Given the description of an element on the screen output the (x, y) to click on. 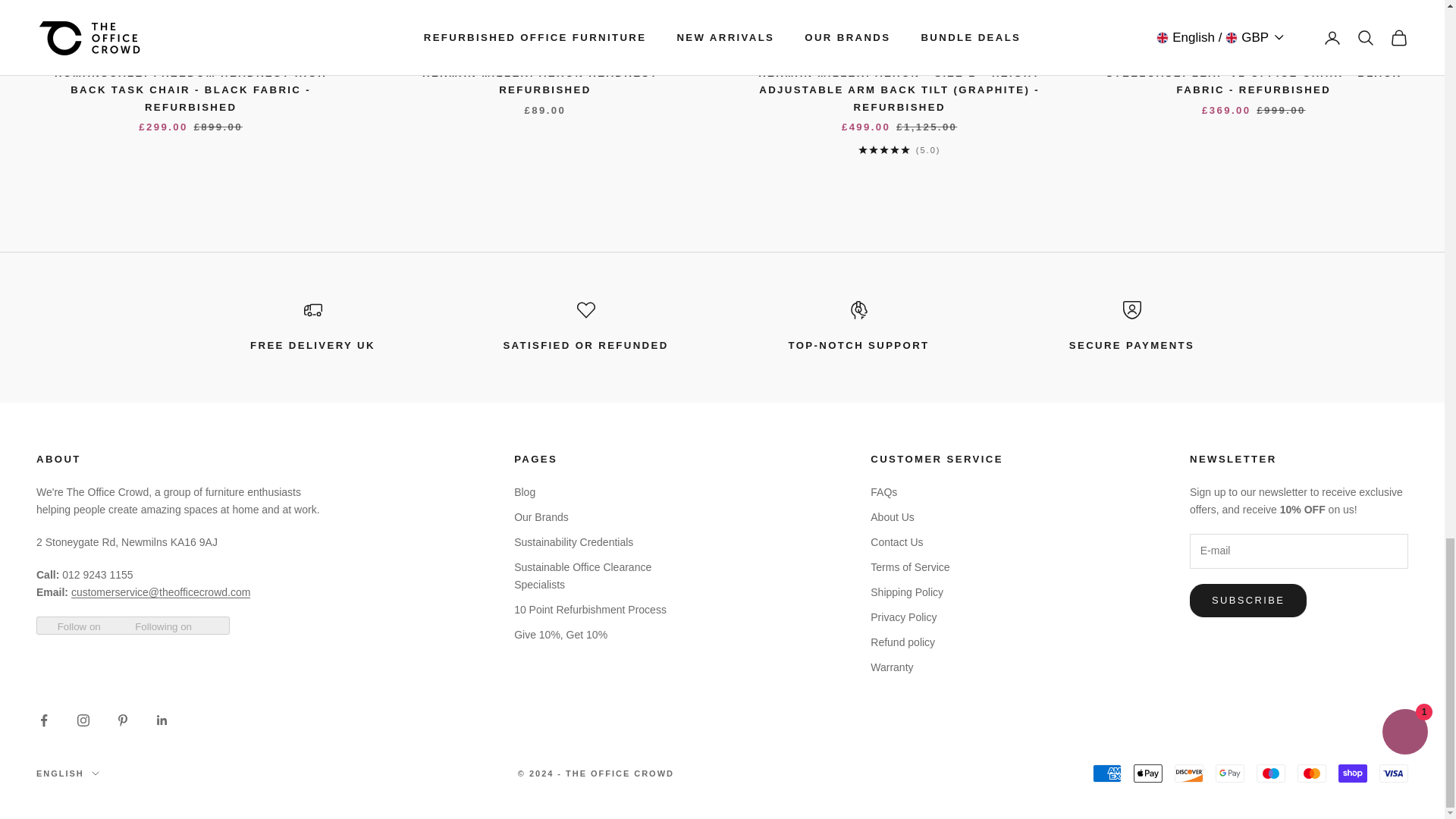
1 review (899, 149)
